Given the description of an element on the screen output the (x, y) to click on. 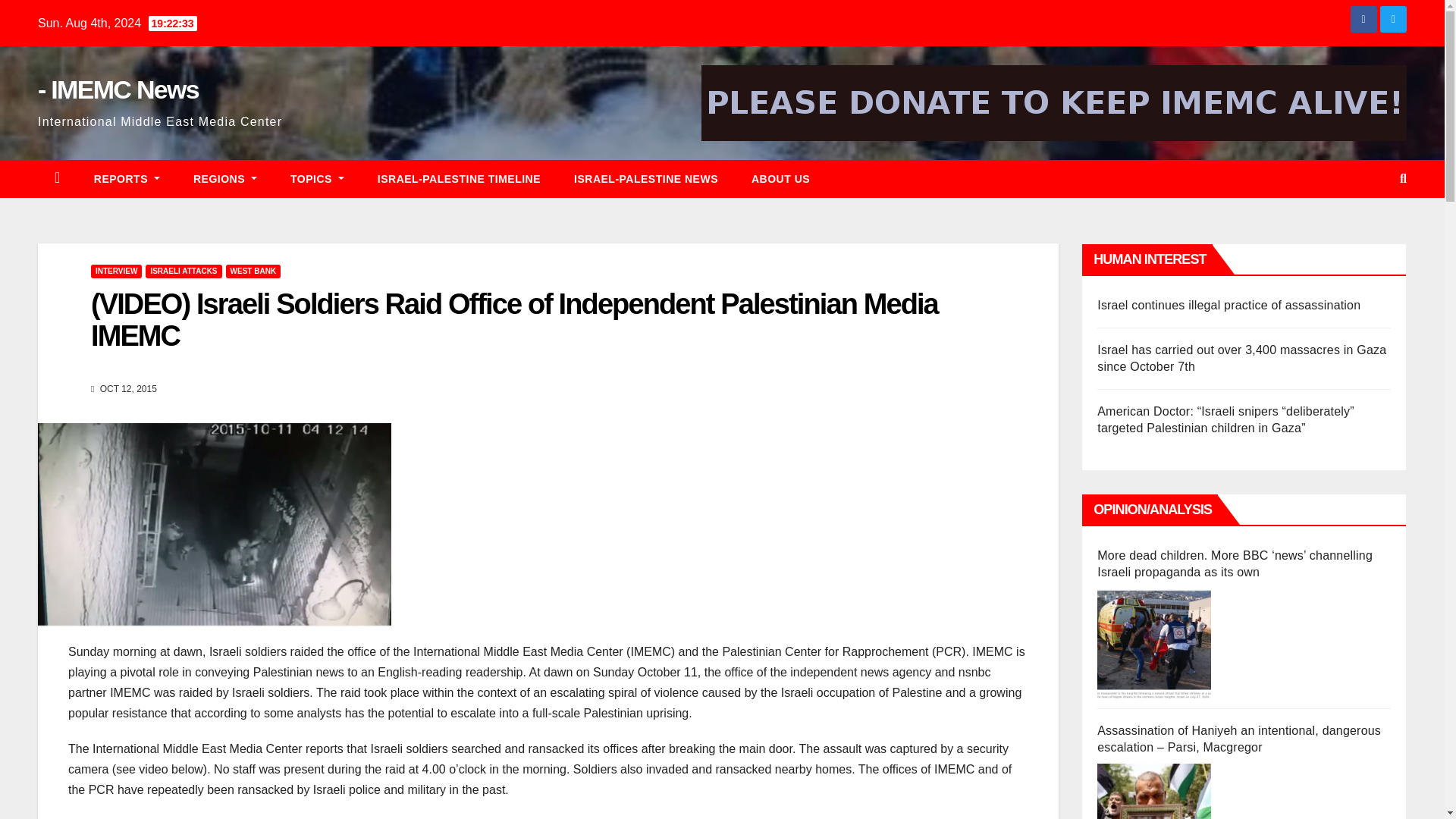
- IMEMC News (117, 89)
REPORTS (126, 178)
REGIONS (224, 178)
Reports (126, 178)
TOPICS (317, 178)
Regions (224, 178)
